Given the description of an element on the screen output the (x, y) to click on. 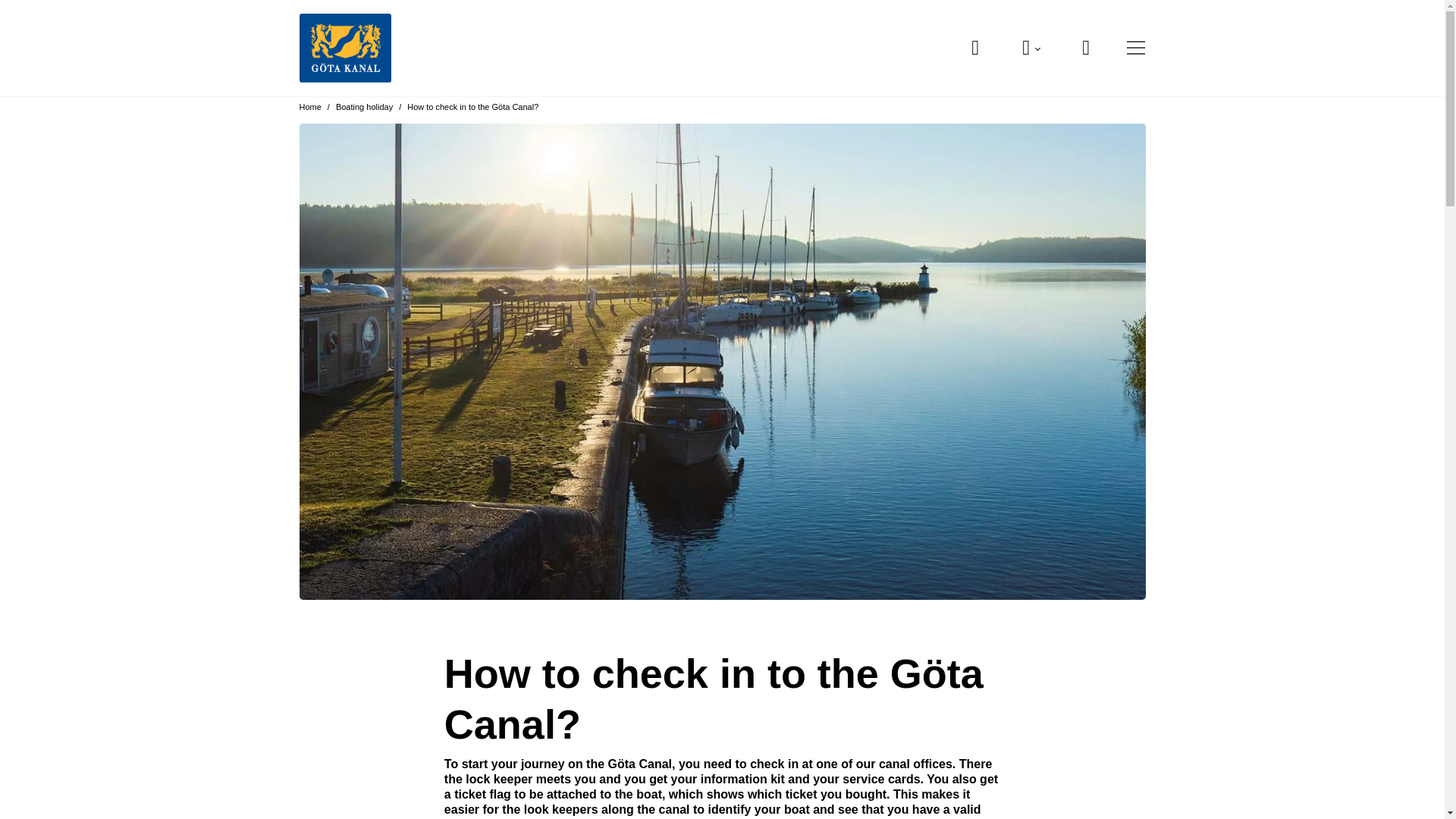
Language (1030, 47)
LANGUAGE (1030, 47)
Start page (344, 47)
SEARCH (975, 47)
